Given the description of an element on the screen output the (x, y) to click on. 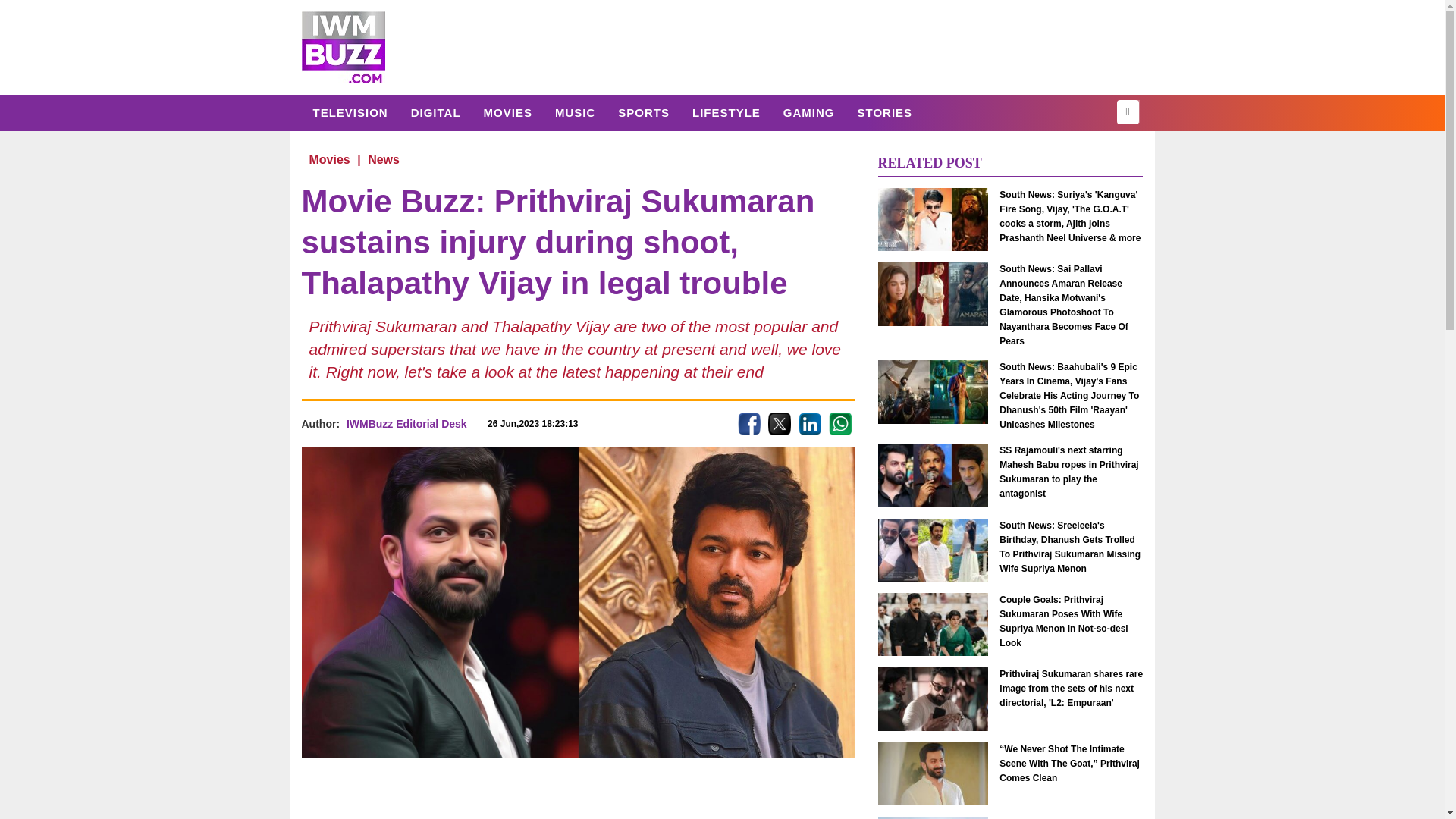
Movies (507, 112)
MUSIC (575, 112)
Television (349, 112)
DIGITAL (434, 112)
Lifestyle (726, 112)
Sports (644, 112)
STORIES (884, 112)
Gaming (808, 112)
Movies (328, 159)
GAMING (808, 112)
